Given the description of an element on the screen output the (x, y) to click on. 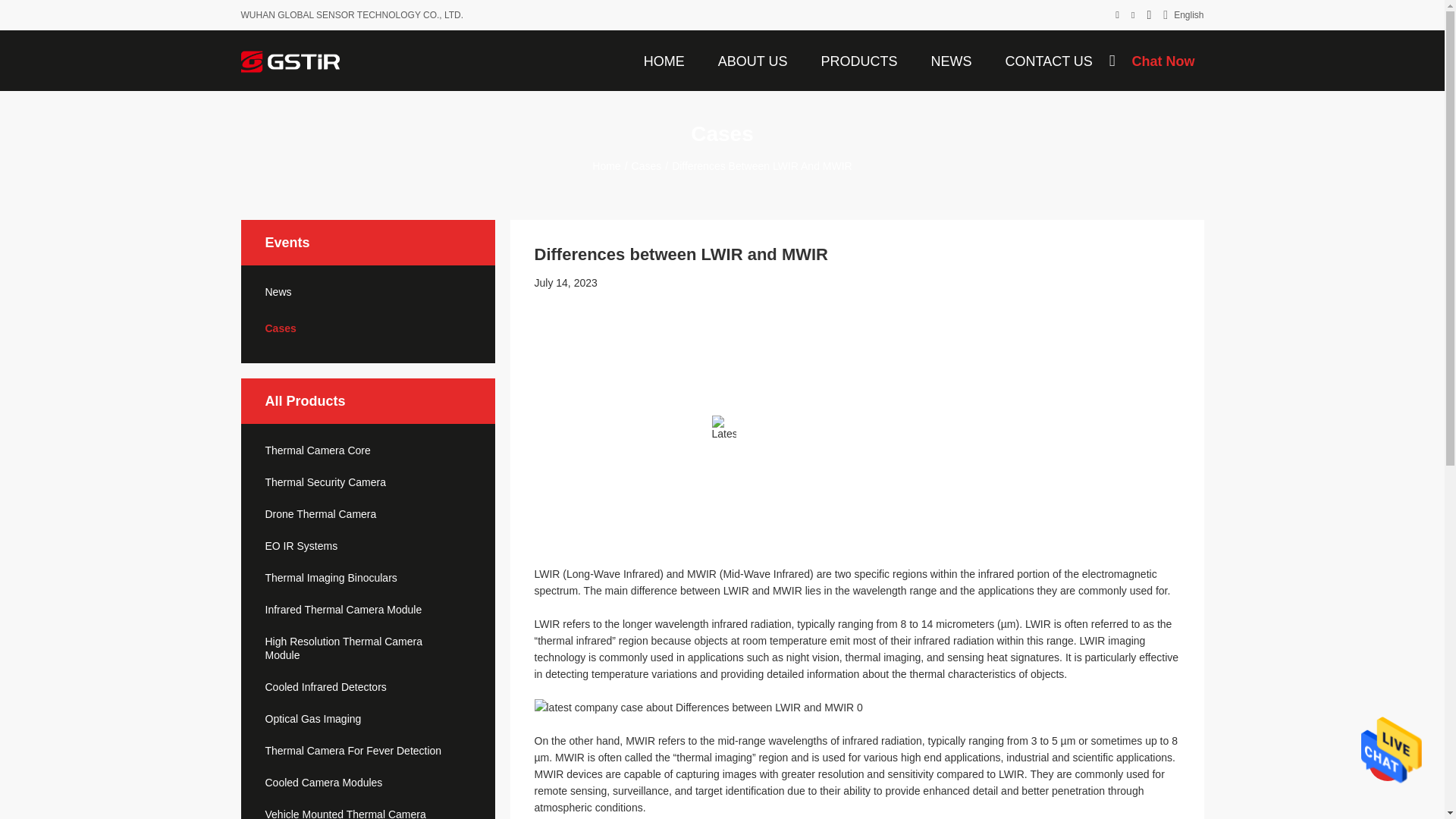
ABOUT US (752, 60)
HOME (664, 60)
PRODUCTS (857, 60)
